Given the description of an element on the screen output the (x, y) to click on. 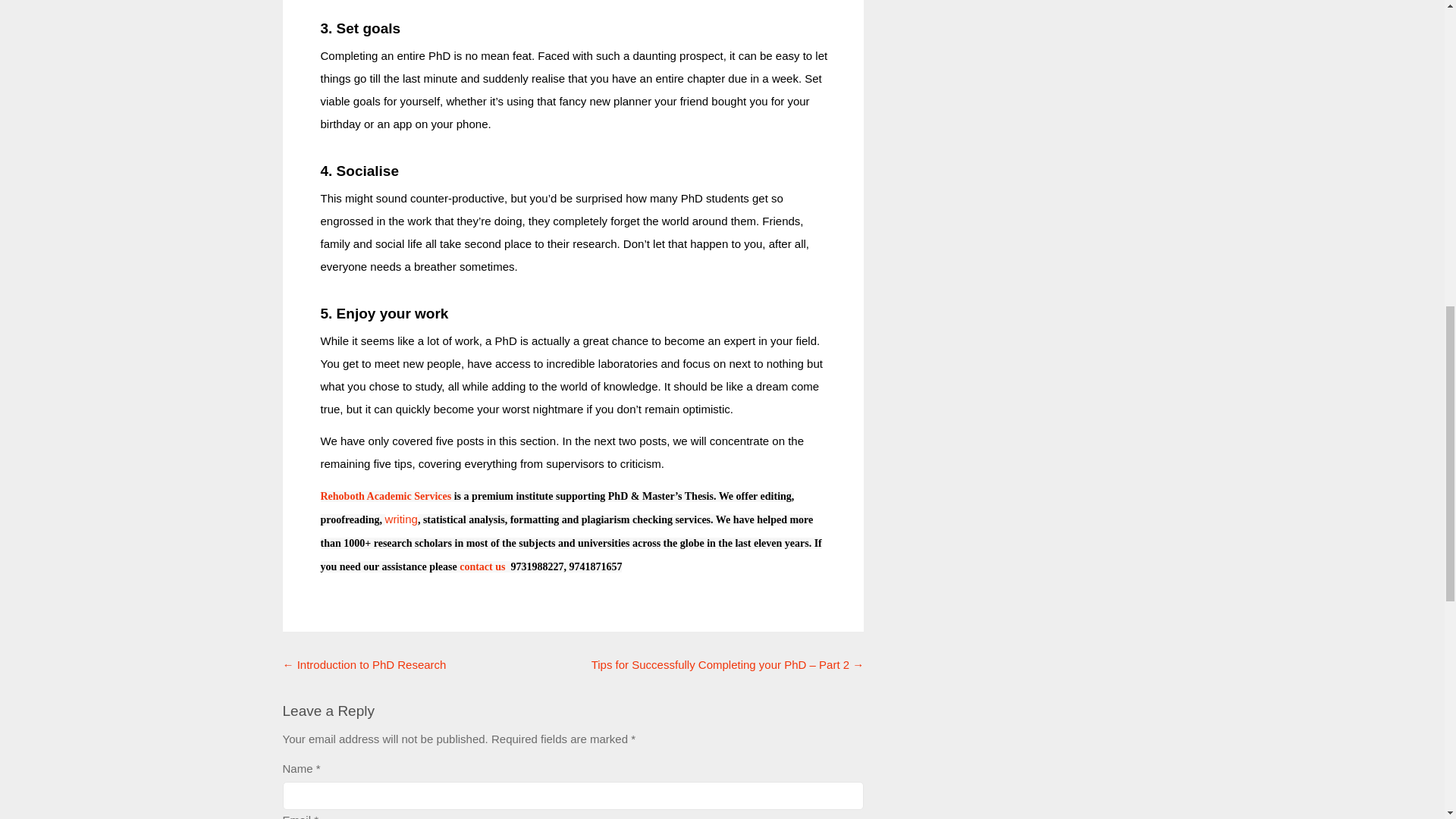
Rehoboth Academic Services (385, 496)
contact us  (484, 566)
writing (401, 518)
